Given the description of an element on the screen output the (x, y) to click on. 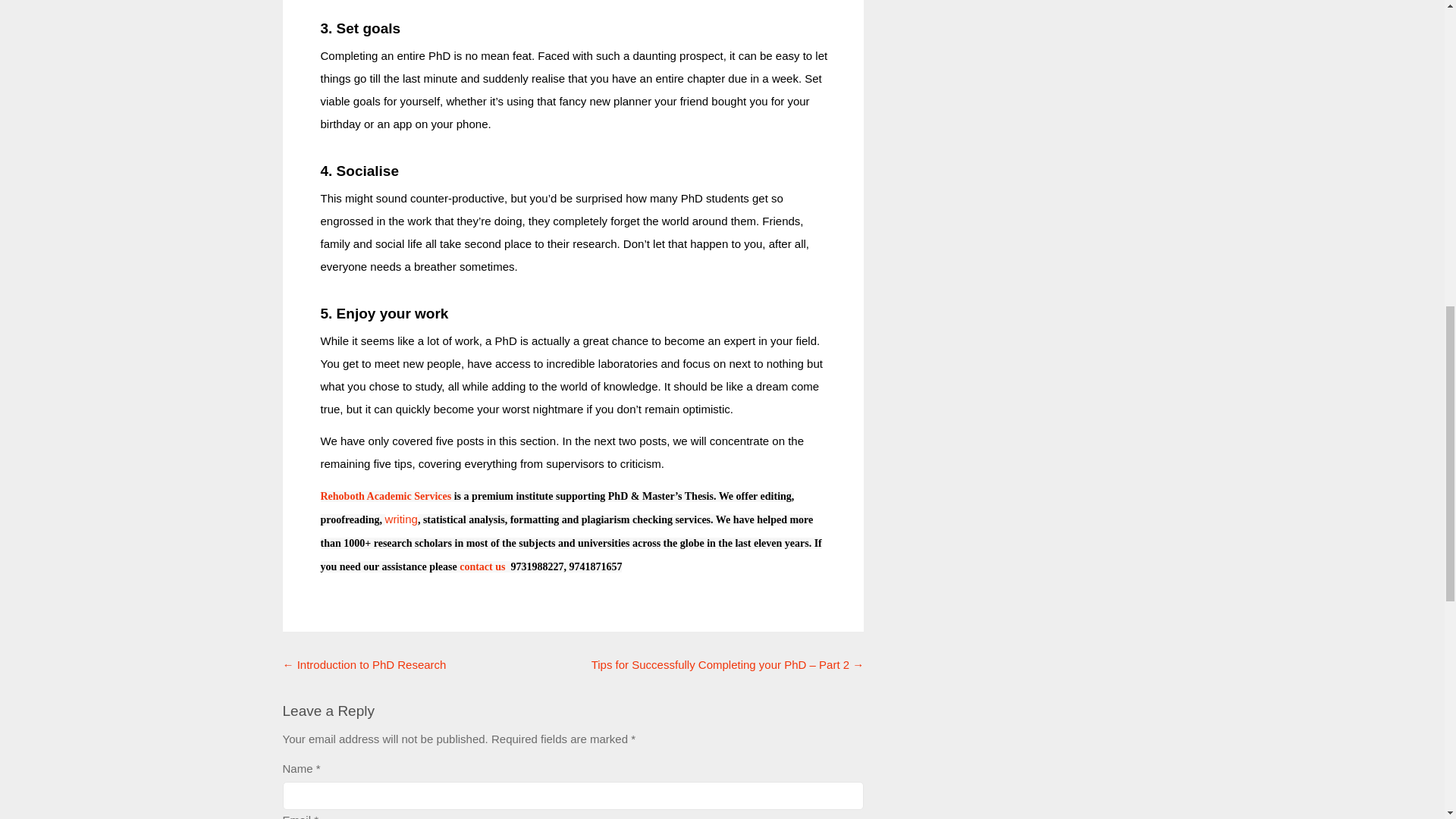
Rehoboth Academic Services (385, 496)
contact us  (484, 566)
writing (401, 518)
